Given the description of an element on the screen output the (x, y) to click on. 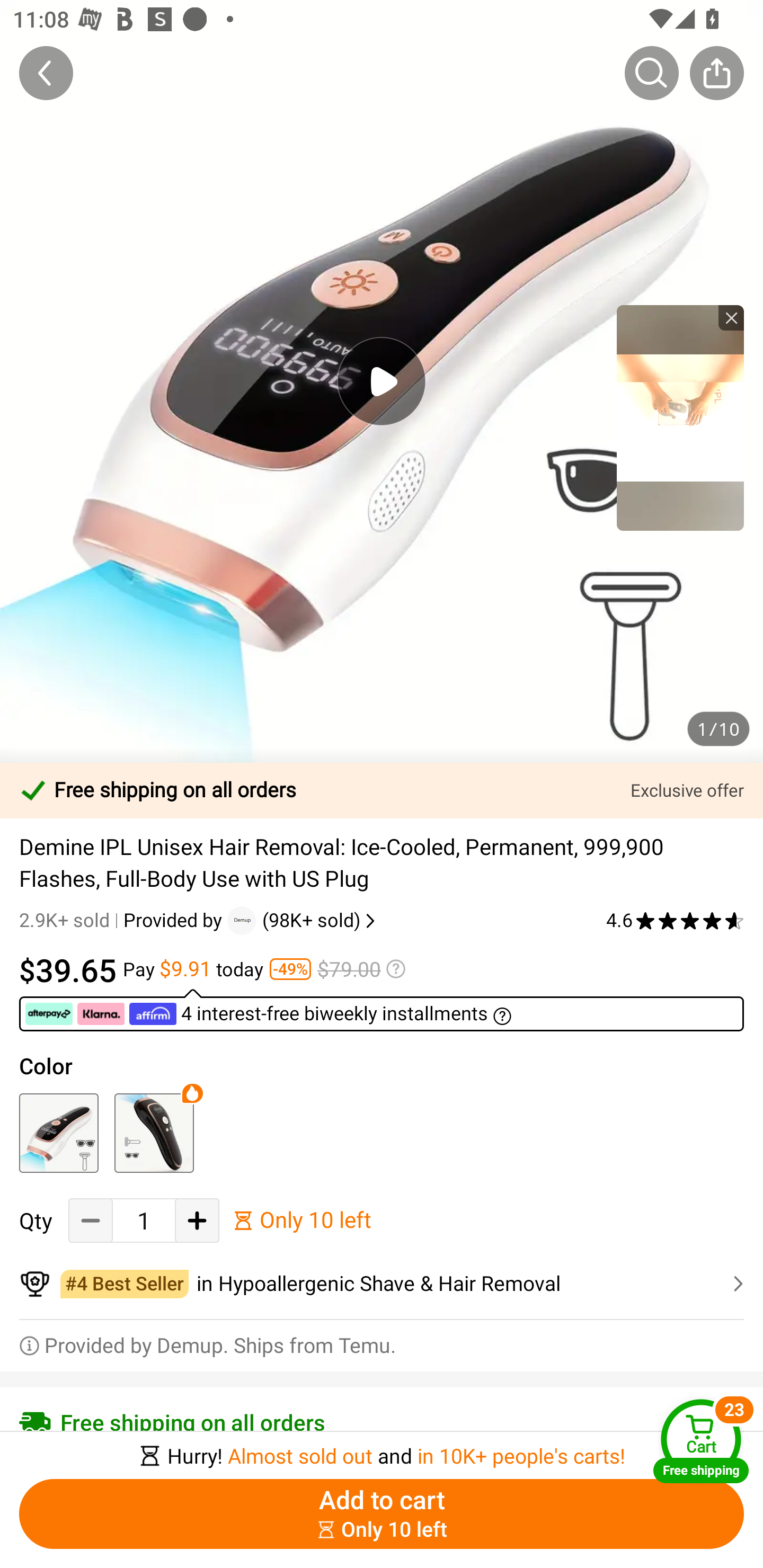
Back (46, 72)
Share (716, 72)
tronplayer_view (680, 417)
Free shipping on all orders Exclusive offer (381, 790)
2.9K+ sold Provided by  (123, 920)
4.6 (674, 920)
￼ ￼ ￼ 4 interest-free biweekly installments ￼ (381, 1009)
White (58, 1132)
Black   (153, 1132)
Decrease Quantity Button (90, 1220)
1 (143, 1220)
Add Quantity button (196, 1220)
￼￼in Hypoallergenic Shave & Hair Removal (381, 1283)
Cart Free shipping Cart (701, 1440)
Add to cart ￼￼Only 10 left (381, 1513)
